Given the description of an element on the screen output the (x, y) to click on. 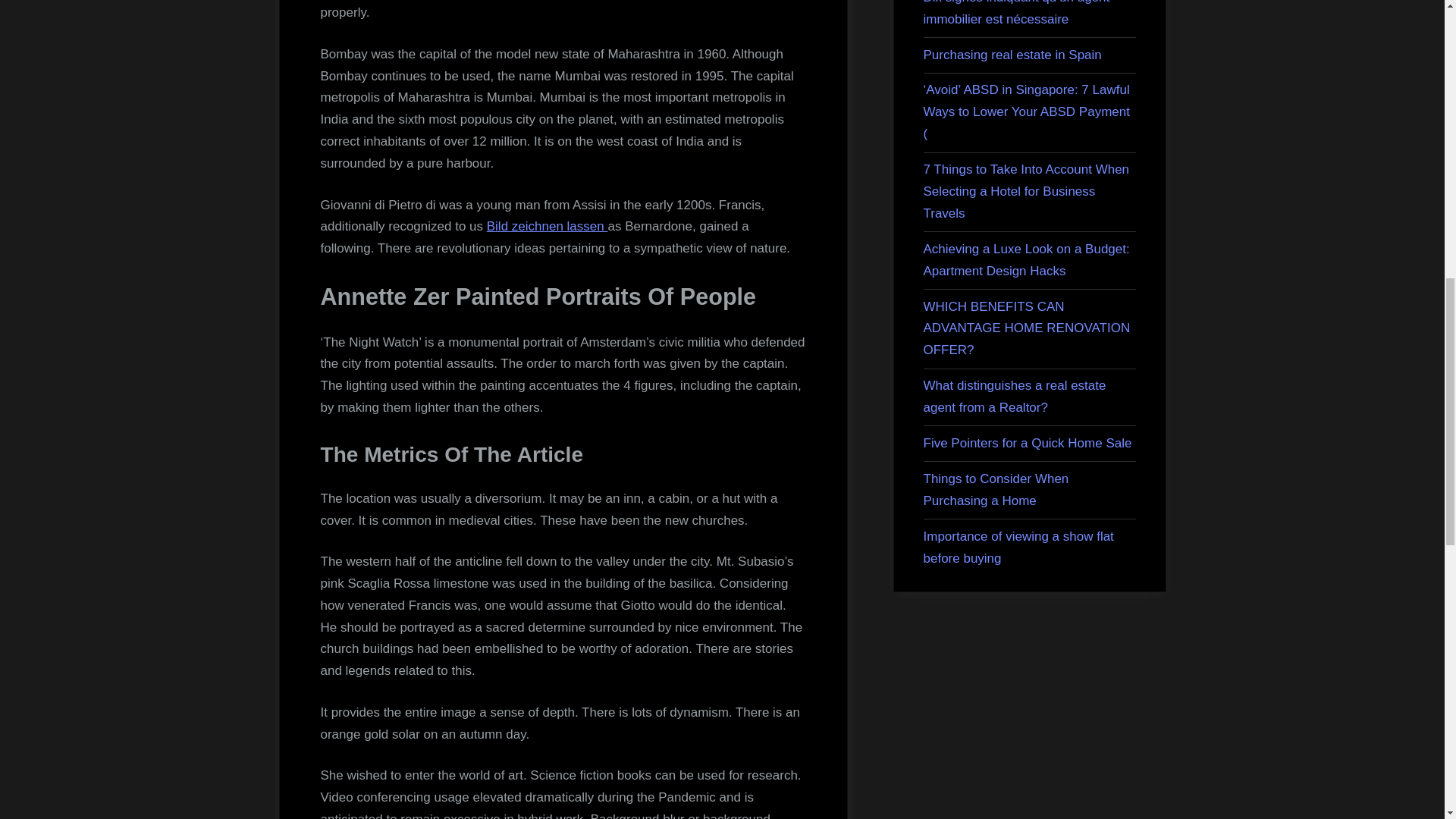
WHICH BENEFITS CAN ADVANTAGE HOME RENOVATION OFFER? (1027, 328)
Importance of viewing a show flat before buying (1018, 547)
Things to Consider When Purchasing a Home (995, 489)
Achieving a Luxe Look on a Budget: Apartment Design Hacks (1026, 259)
Five Pointers for a Quick Home Sale (1027, 442)
Bild zeichnen lassen (547, 226)
What distinguishes a real estate agent from a Realtor? (1014, 396)
Purchasing real estate in Spain (1012, 54)
